Given the description of an element on the screen output the (x, y) to click on. 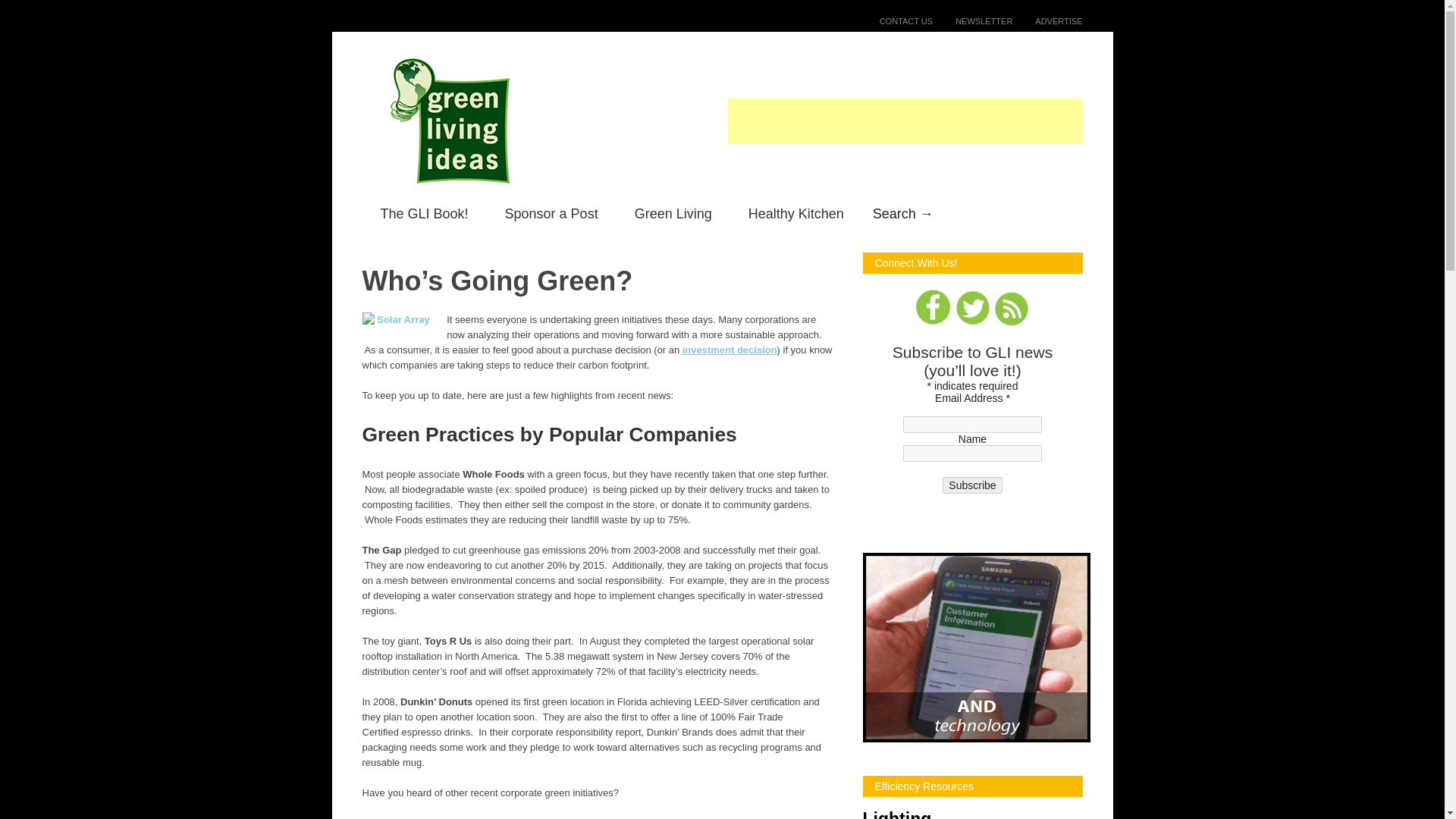
ADVERTISE (1046, 20)
Sustainable Business News (468, 818)
Sponsor a Post (550, 214)
Toys R Us (689, 818)
Advertisement (905, 121)
The GLI Book! (424, 214)
Healthy Kitchen (795, 214)
Whole Foods Market (586, 818)
CONTACT US (895, 20)
investment decision (729, 349)
NEWSLETTER (972, 20)
Subscribe (971, 484)
Green Living (672, 214)
